Given the description of an element on the screen output the (x, y) to click on. 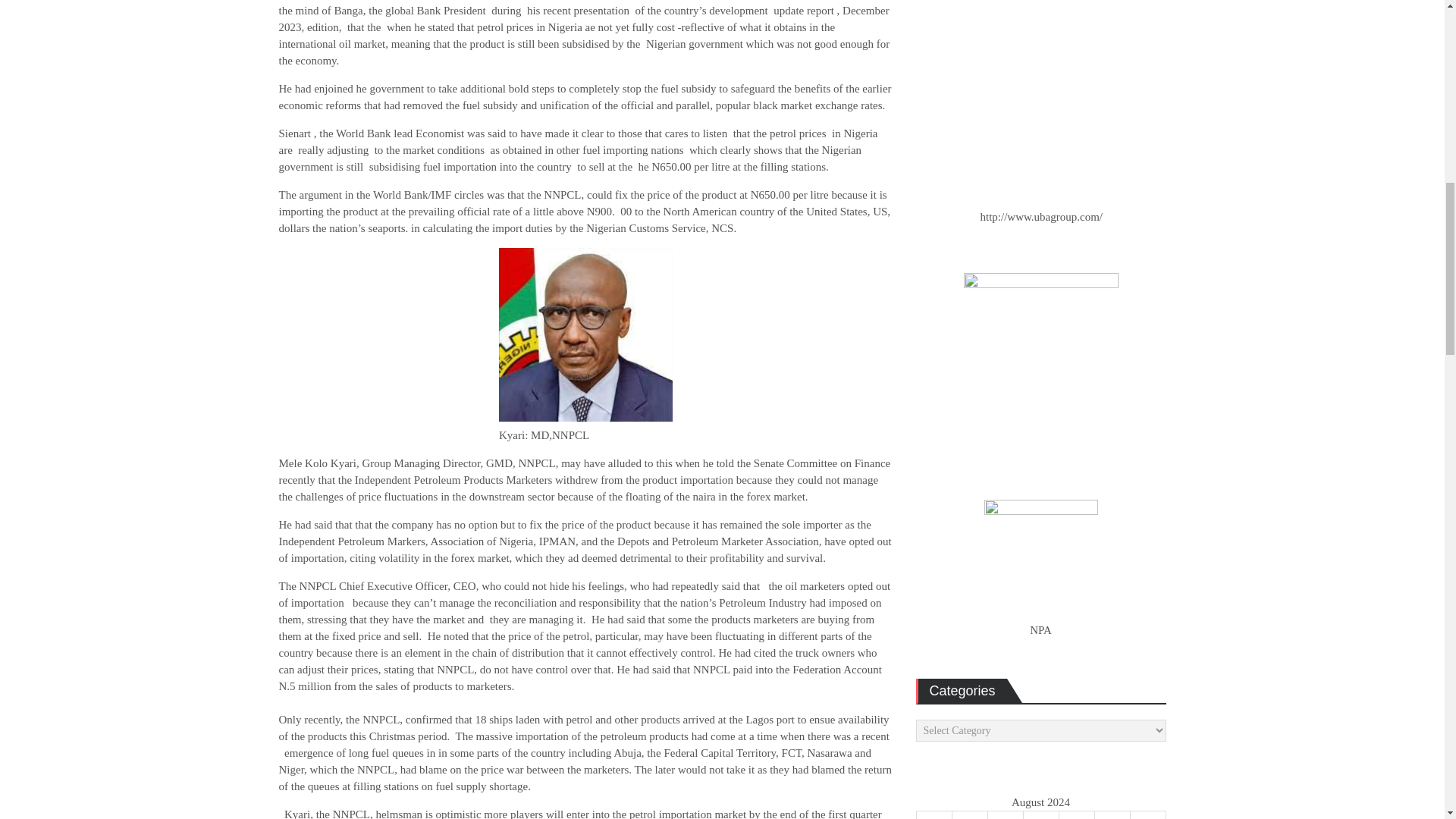
Wednesday (1005, 814)
Monday (933, 814)
Sunday (1147, 814)
Tuesday (969, 814)
Saturday (1111, 814)
Friday (1076, 814)
Thursday (1040, 814)
